Given the description of an element on the screen output the (x, y) to click on. 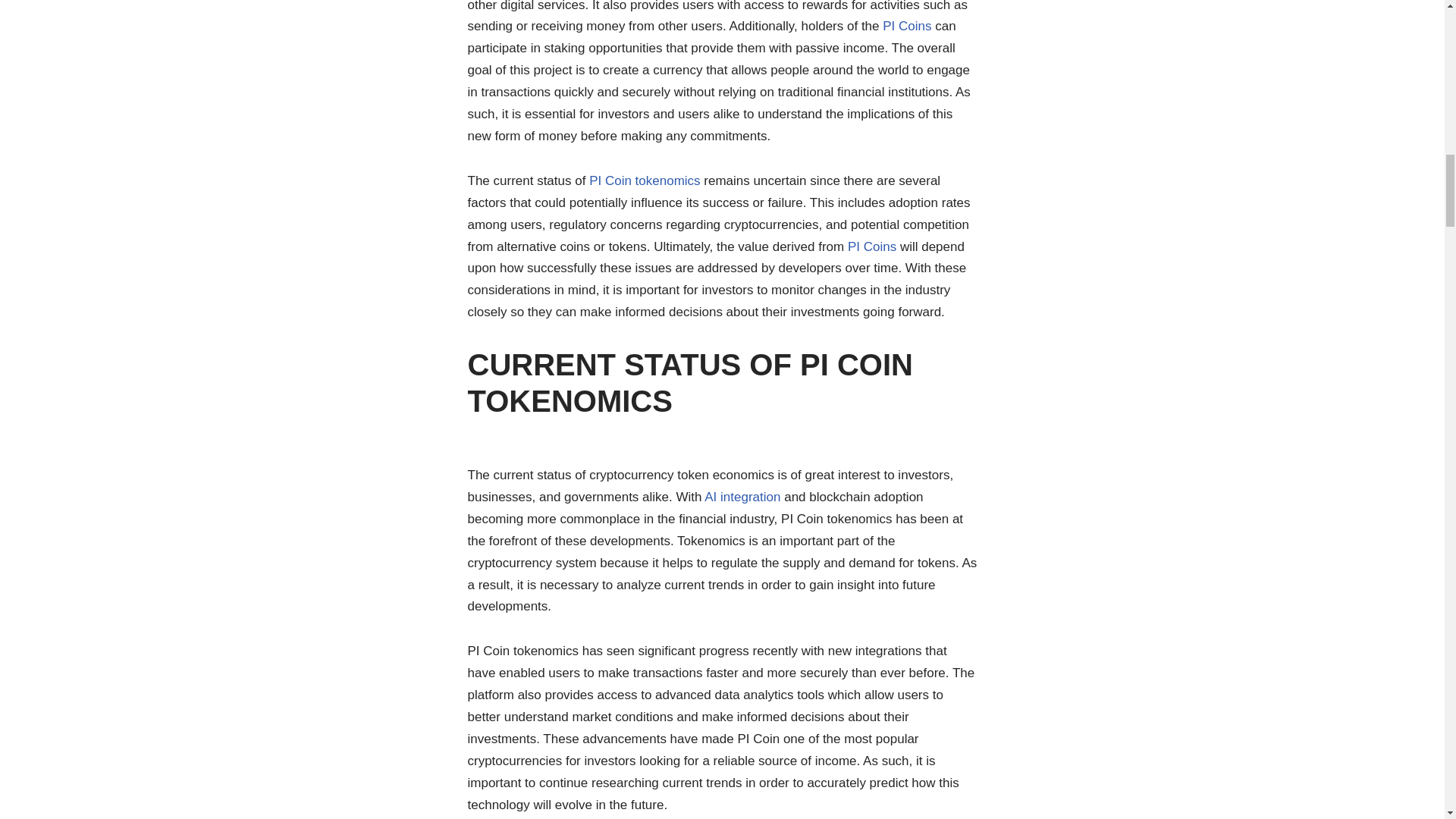
PI Coins (871, 246)
PI Coins (906, 25)
AI integration (742, 496)
PI Coin tokenomics (644, 180)
PI Coins (871, 246)
PI Coin tokenomics (644, 180)
PI Coins (906, 25)
AI integration (742, 496)
